Given the description of an element on the screen output the (x, y) to click on. 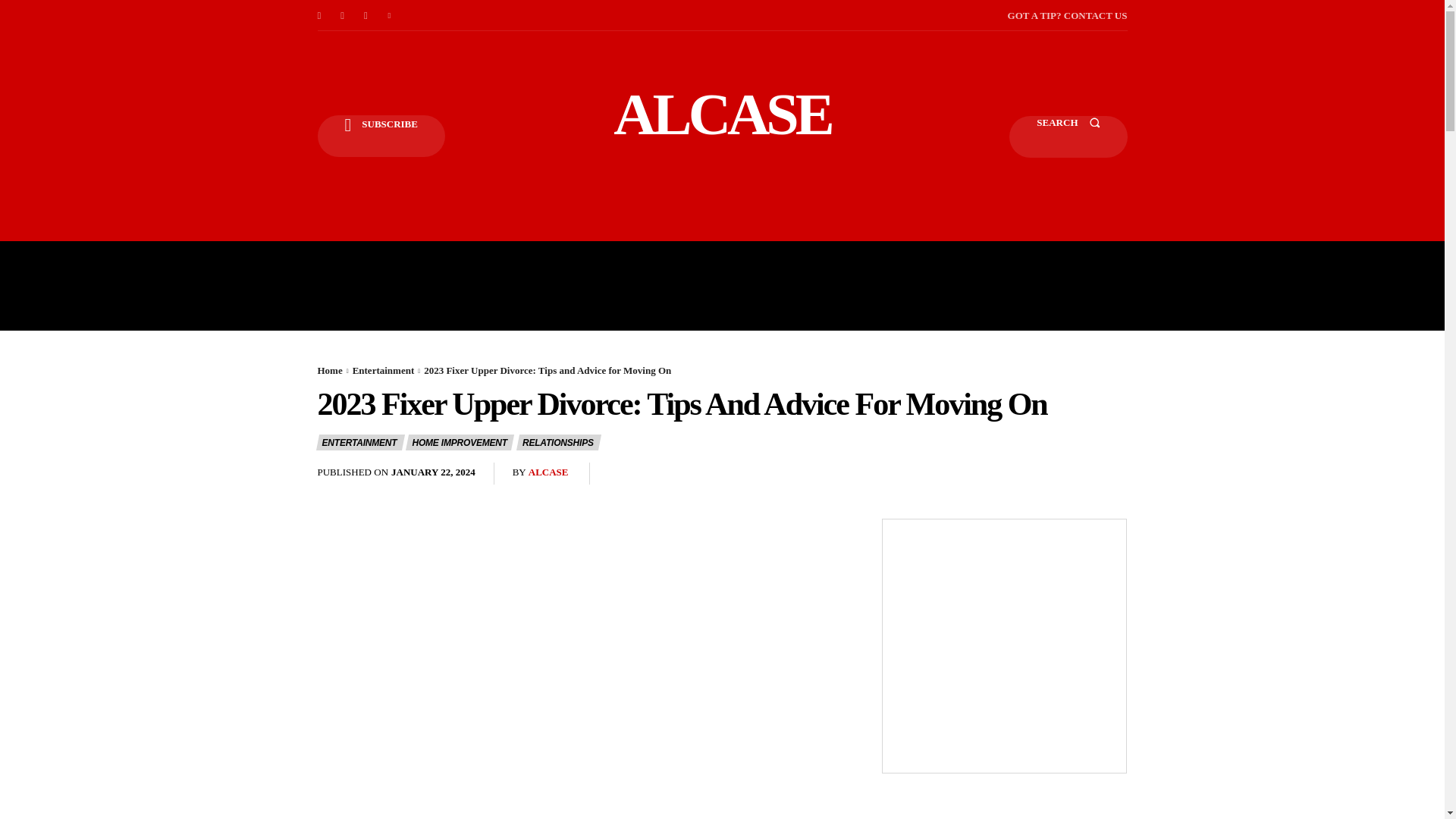
SUBSCRIBE (380, 136)
Twitter (389, 15)
Instagram (342, 15)
GOT A TIP? CONTACT US (1066, 15)
ALCASE (722, 113)
Facebook (318, 15)
SEARCH (1067, 137)
TikTok (366, 15)
